Given the description of an element on the screen output the (x, y) to click on. 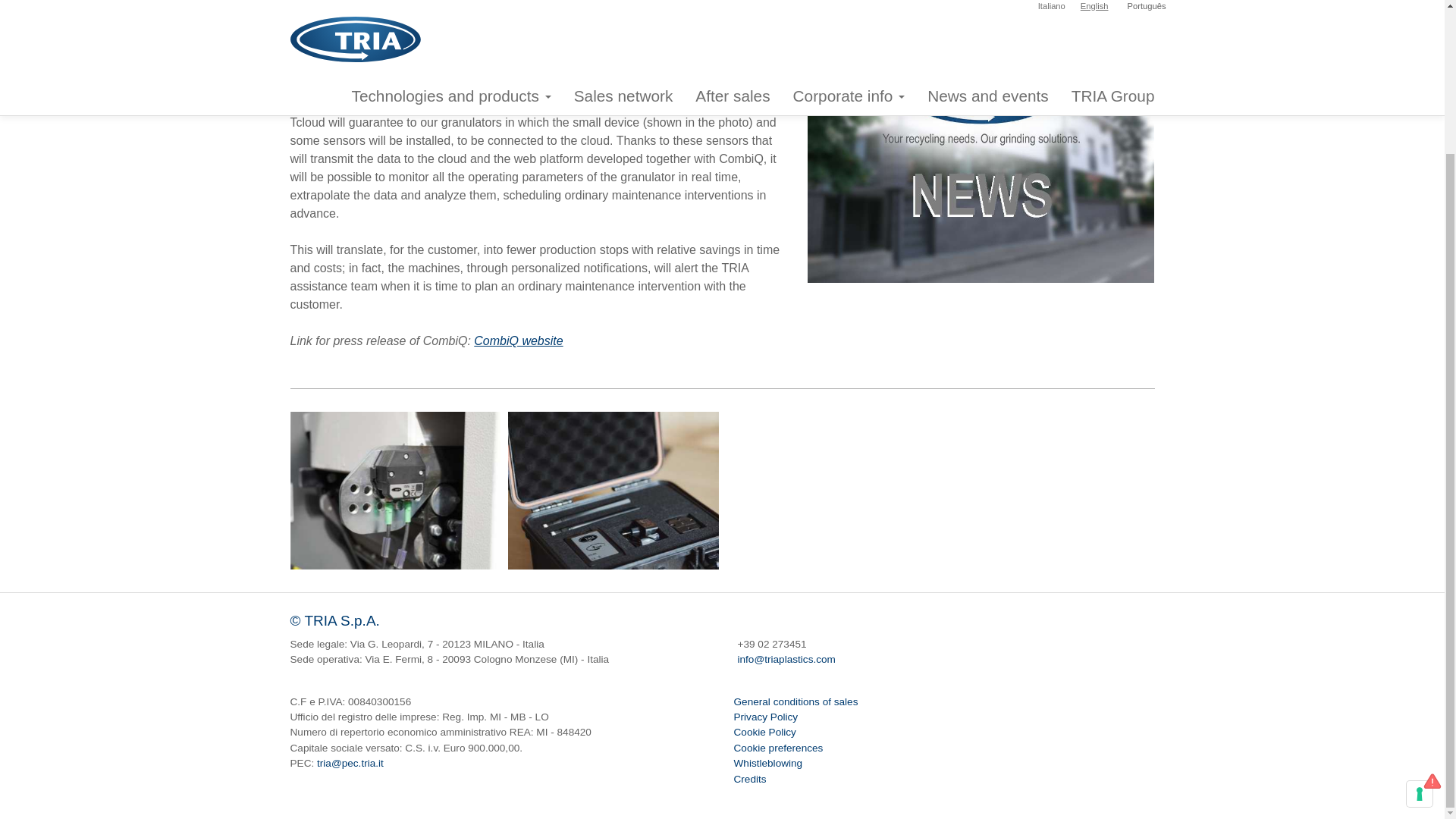
Cookie Policy (764, 731)
Privacy Policy (765, 716)
